Given the description of an element on the screen output the (x, y) to click on. 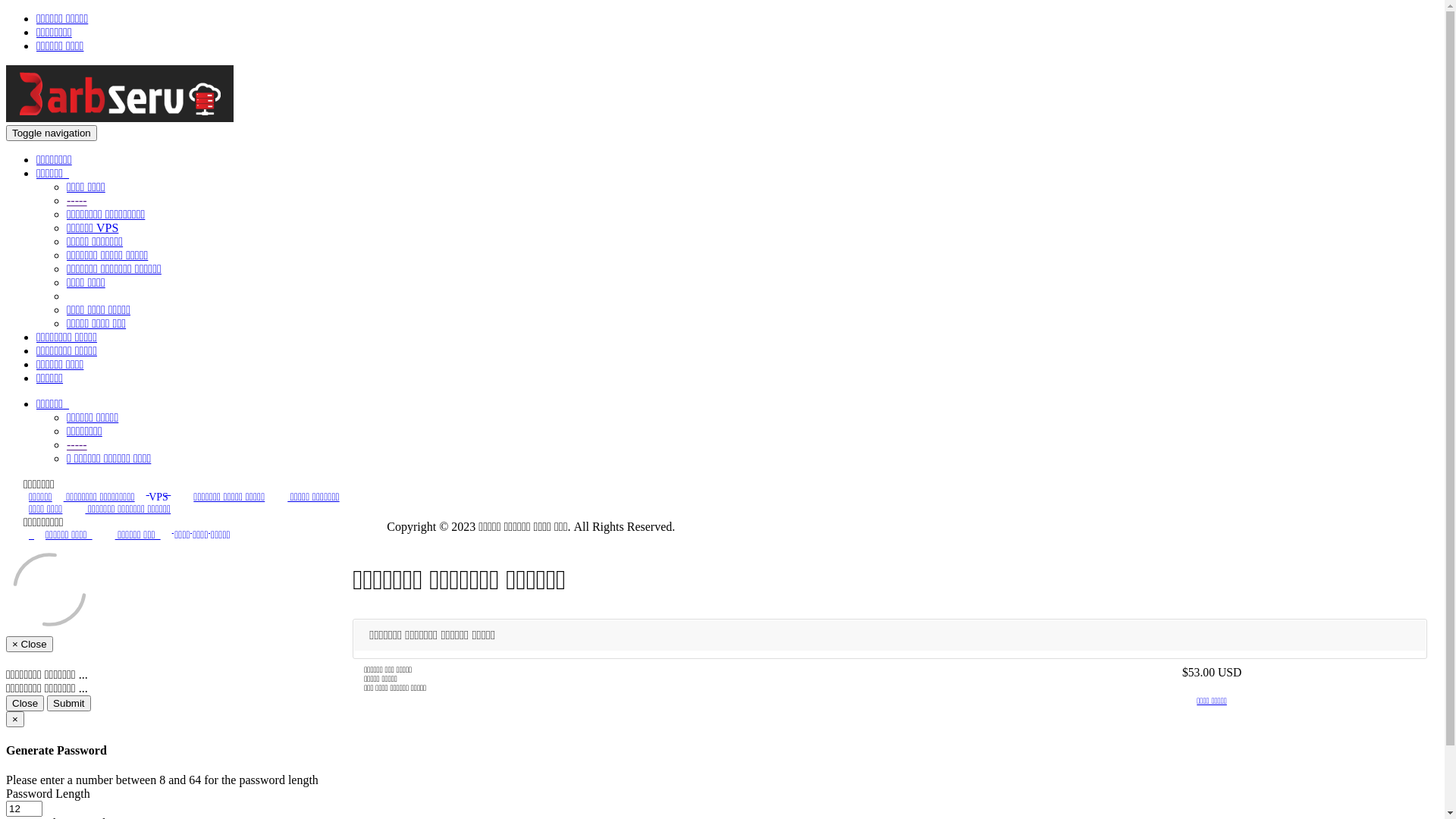
Submit Element type: text (68, 703)
Close Element type: text (24, 703)
----- Element type: text (76, 444)
Toggle navigation Element type: text (51, 133)
----- Element type: text (76, 200)
